Given the description of an element on the screen output the (x, y) to click on. 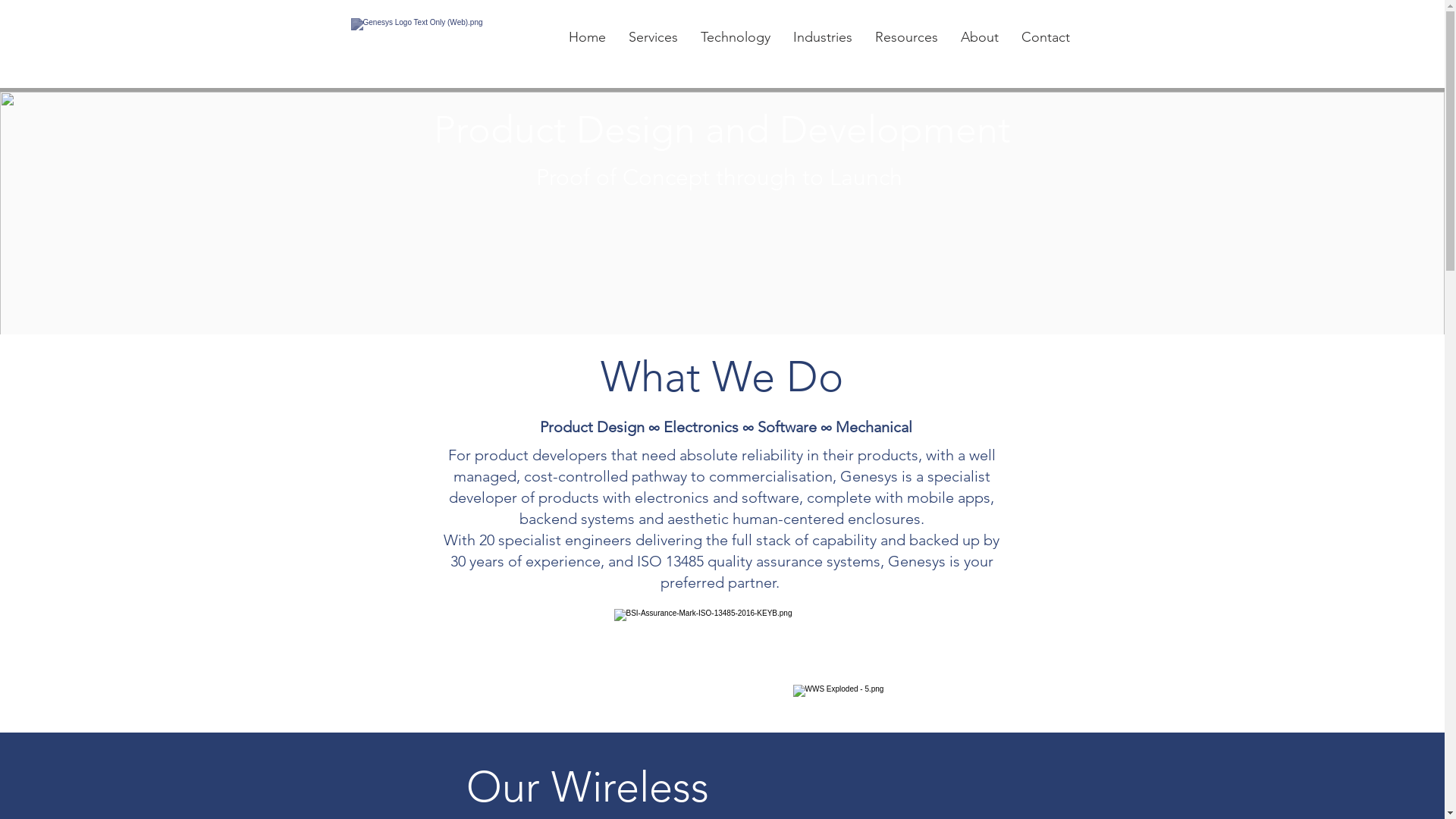
Home Element type: text (586, 37)
Contact Element type: text (1045, 37)
